Given the description of an element on the screen output the (x, y) to click on. 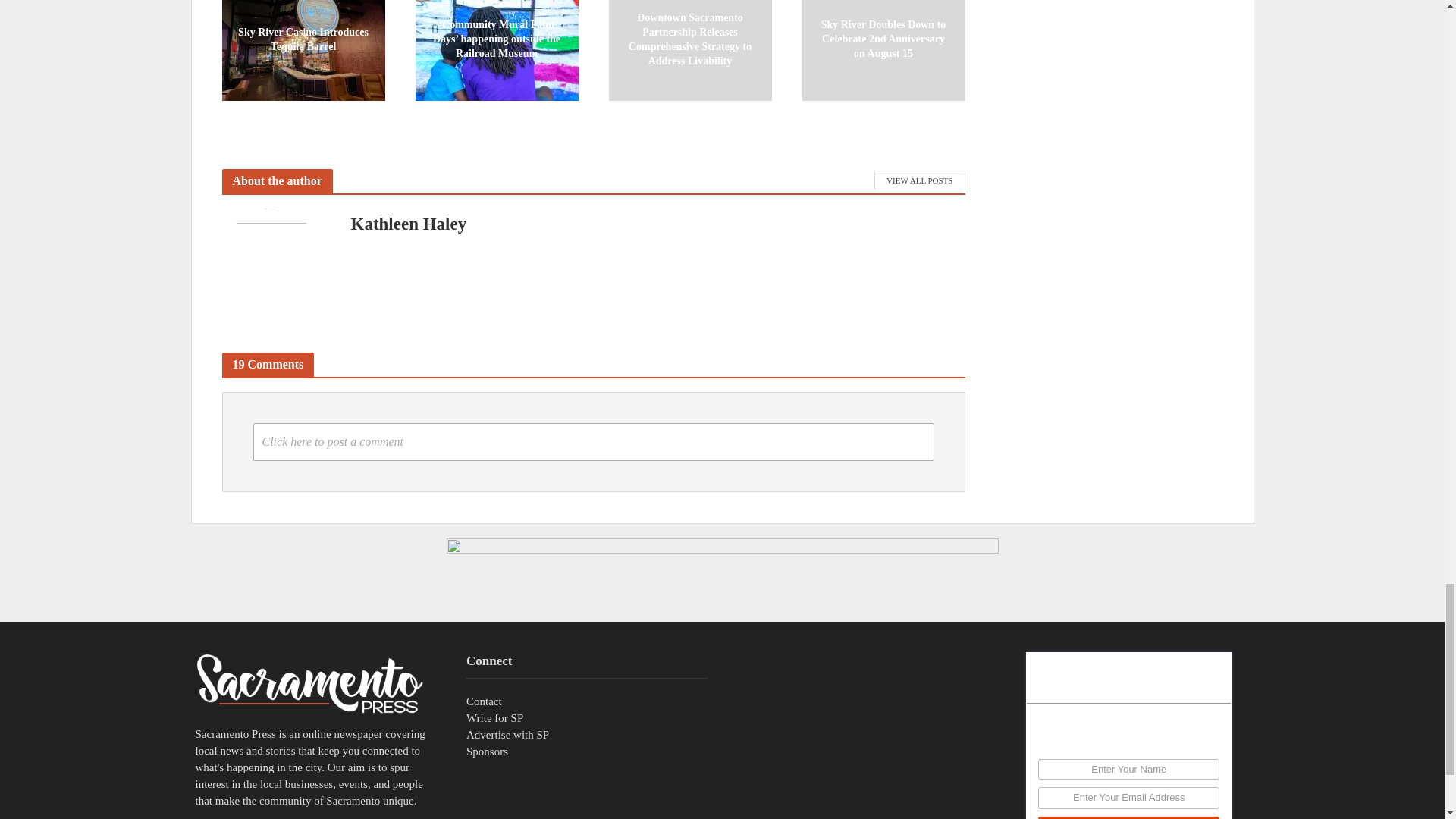
Sky River Casino Introduces Tequila Barrel (302, 38)
